Given the description of an element on the screen output the (x, y) to click on. 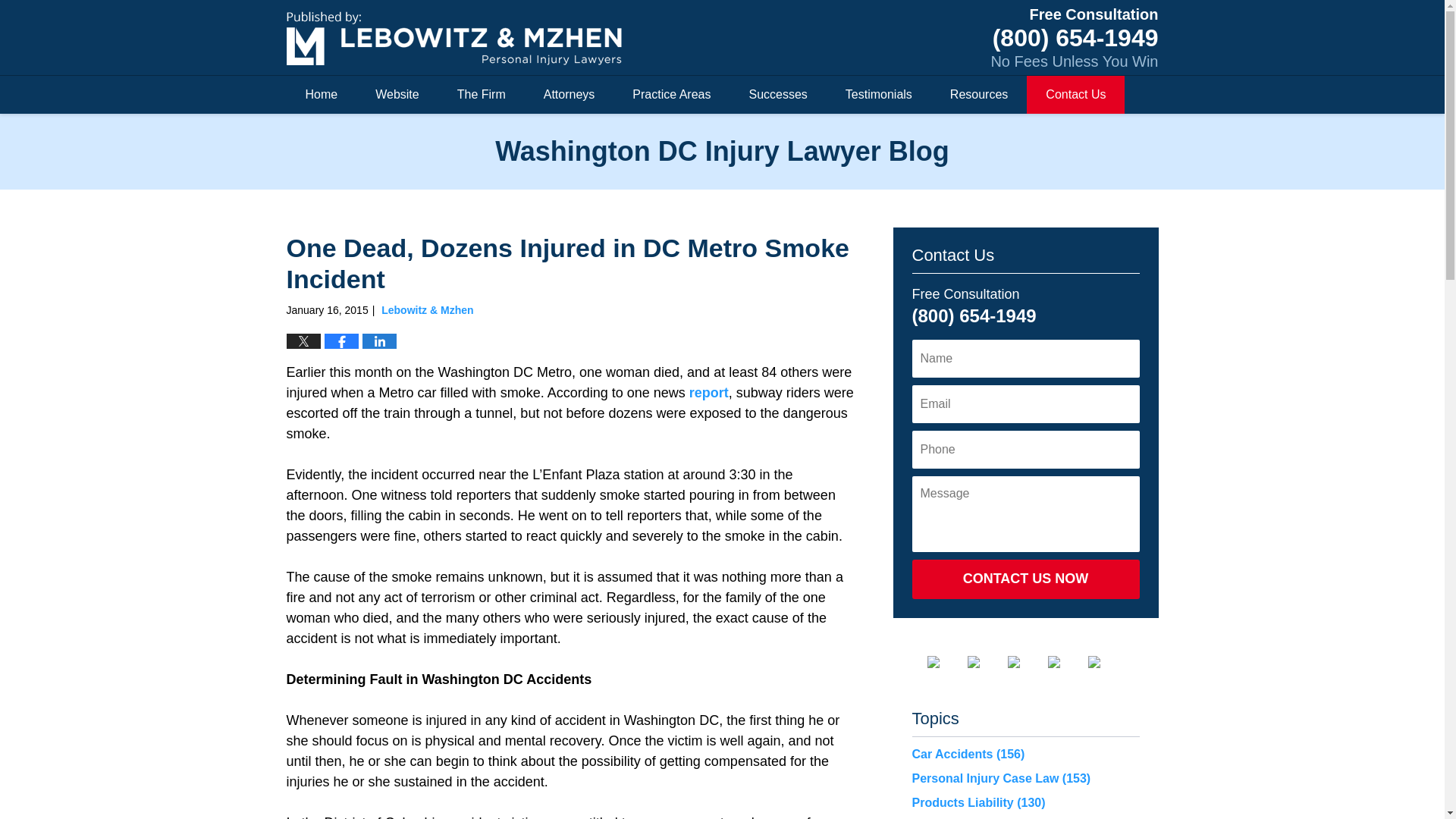
Please enter a valid phone number. (1024, 449)
Contact Us (1075, 94)
Facebook (944, 662)
Testimonials (879, 94)
Feed (1105, 662)
Justia (1066, 662)
Website (397, 94)
Home (321, 94)
The Firm (481, 94)
Practice Areas (670, 94)
